Given the description of an element on the screen output the (x, y) to click on. 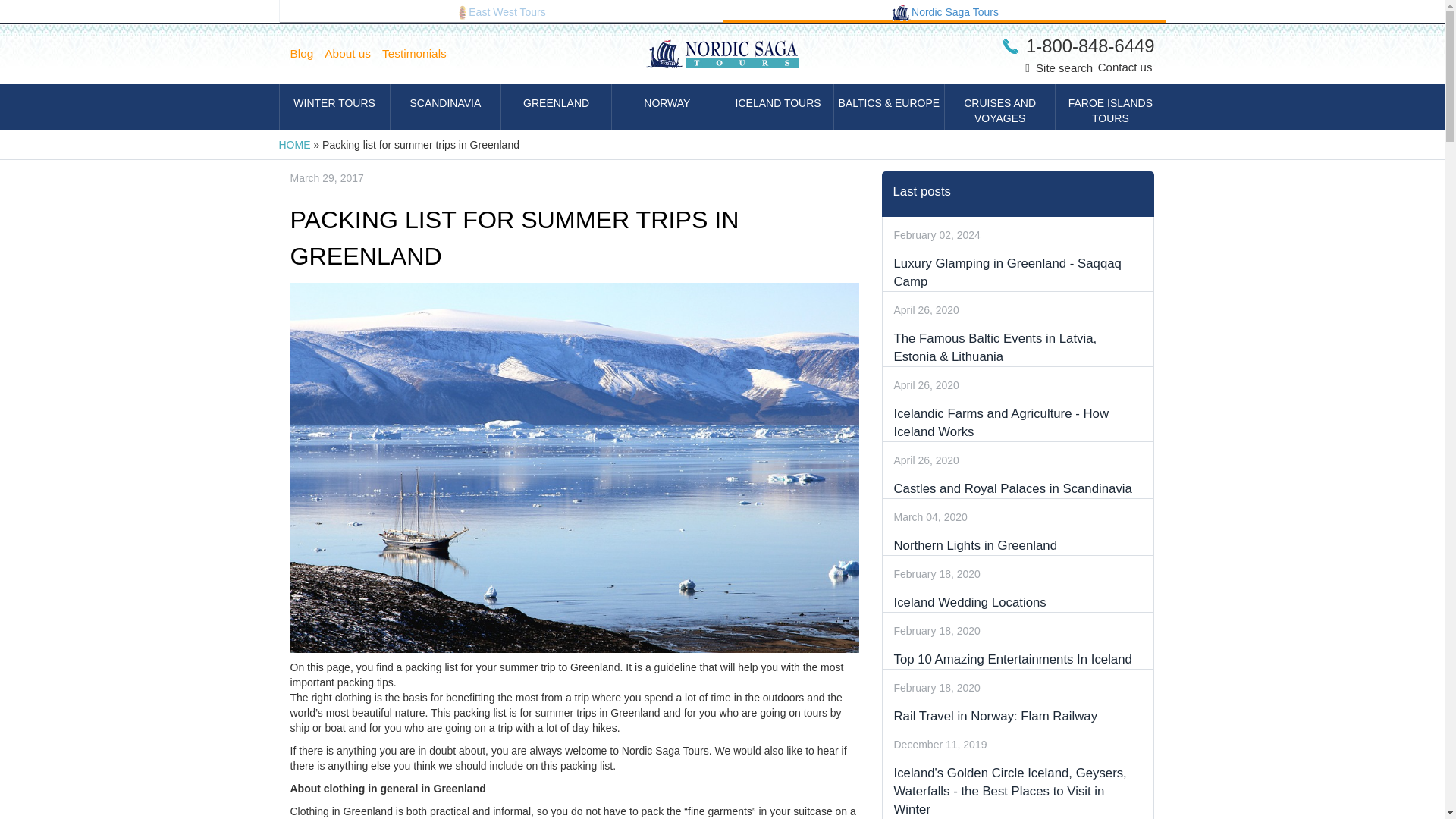
About us (352, 53)
Blog (306, 53)
East West Tours (500, 11)
NORDICSAGA.COM (944, 11)
WINTER TOURS (333, 106)
Contact us (1125, 66)
FAROE ISLANDS (1109, 106)
HOME (295, 144)
Testimonials (419, 53)
scandinavian tours (900, 13)
1-800-848-6449 (1078, 46)
Nordic Saga Tours (944, 11)
